Given the description of an element on the screen output the (x, y) to click on. 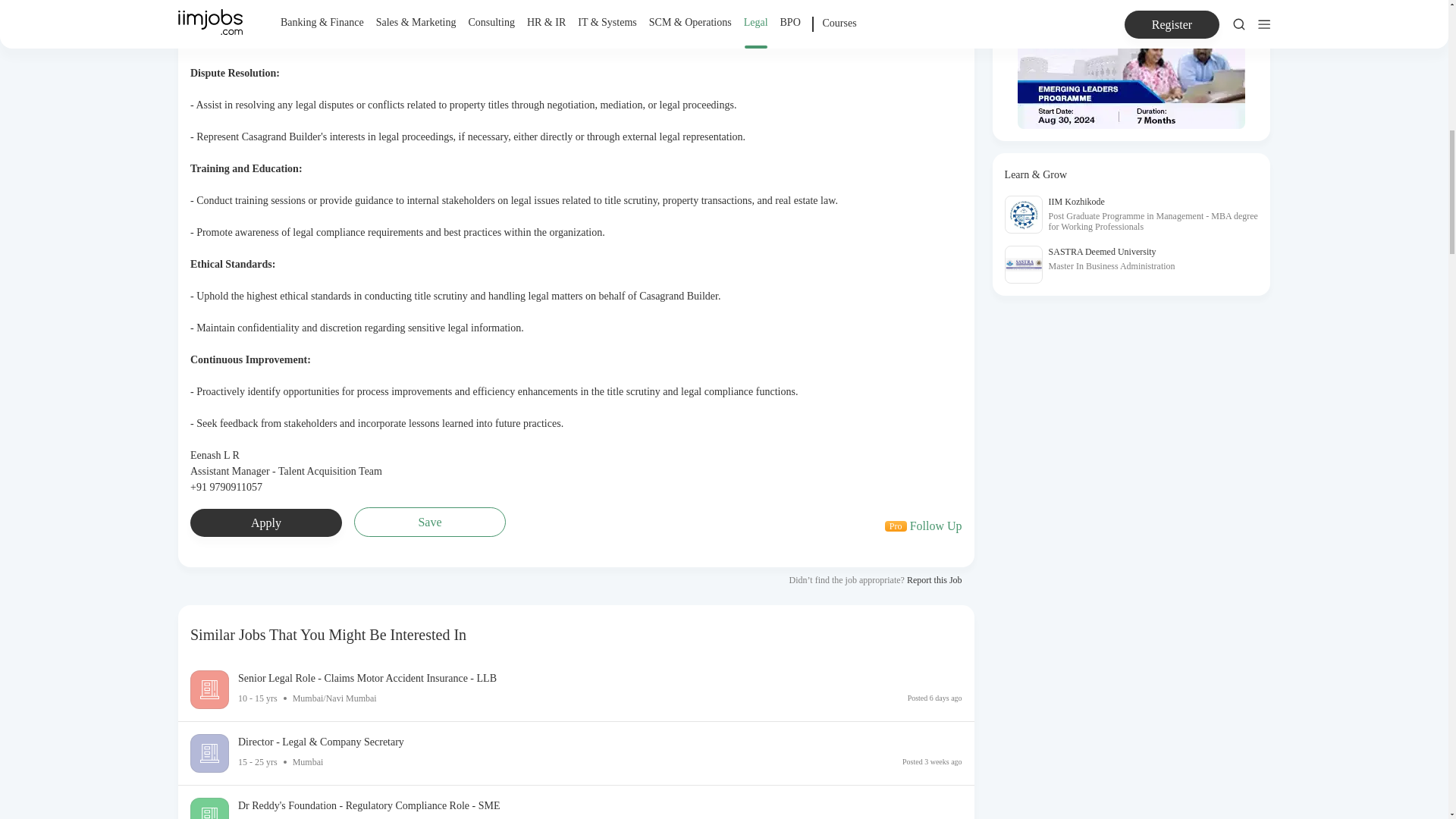
Save (923, 525)
Apply (429, 521)
